Given the description of an element on the screen output the (x, y) to click on. 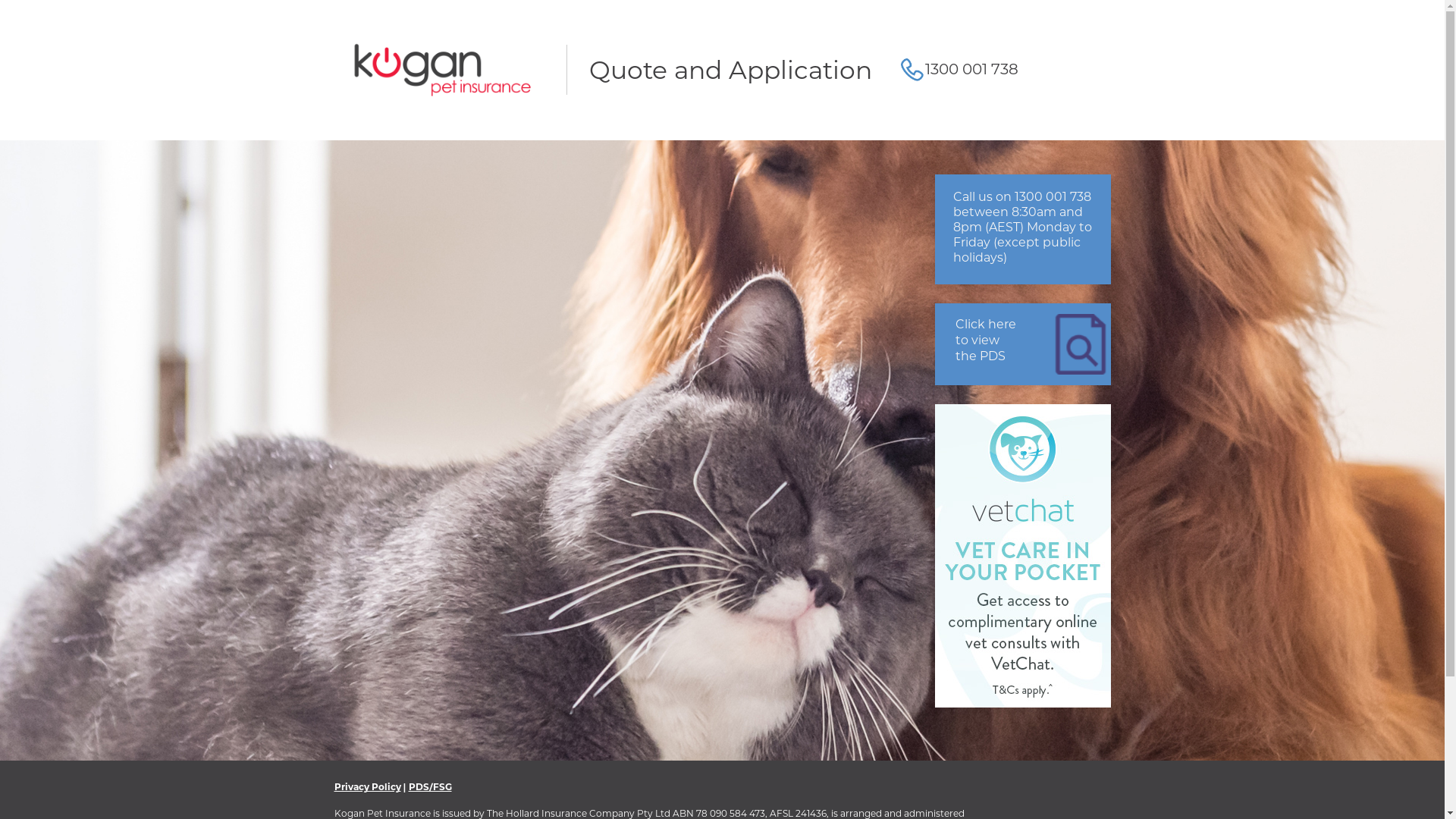
1300 001 738 Element type: text (971, 68)
PDS/FSG Element type: text (429, 786)
1300 001 738 Element type: text (1052, 196)
Privacy Policy Element type: text (366, 786)
Click here to view the PDS Element type: text (1022, 344)
